Given the description of an element on the screen output the (x, y) to click on. 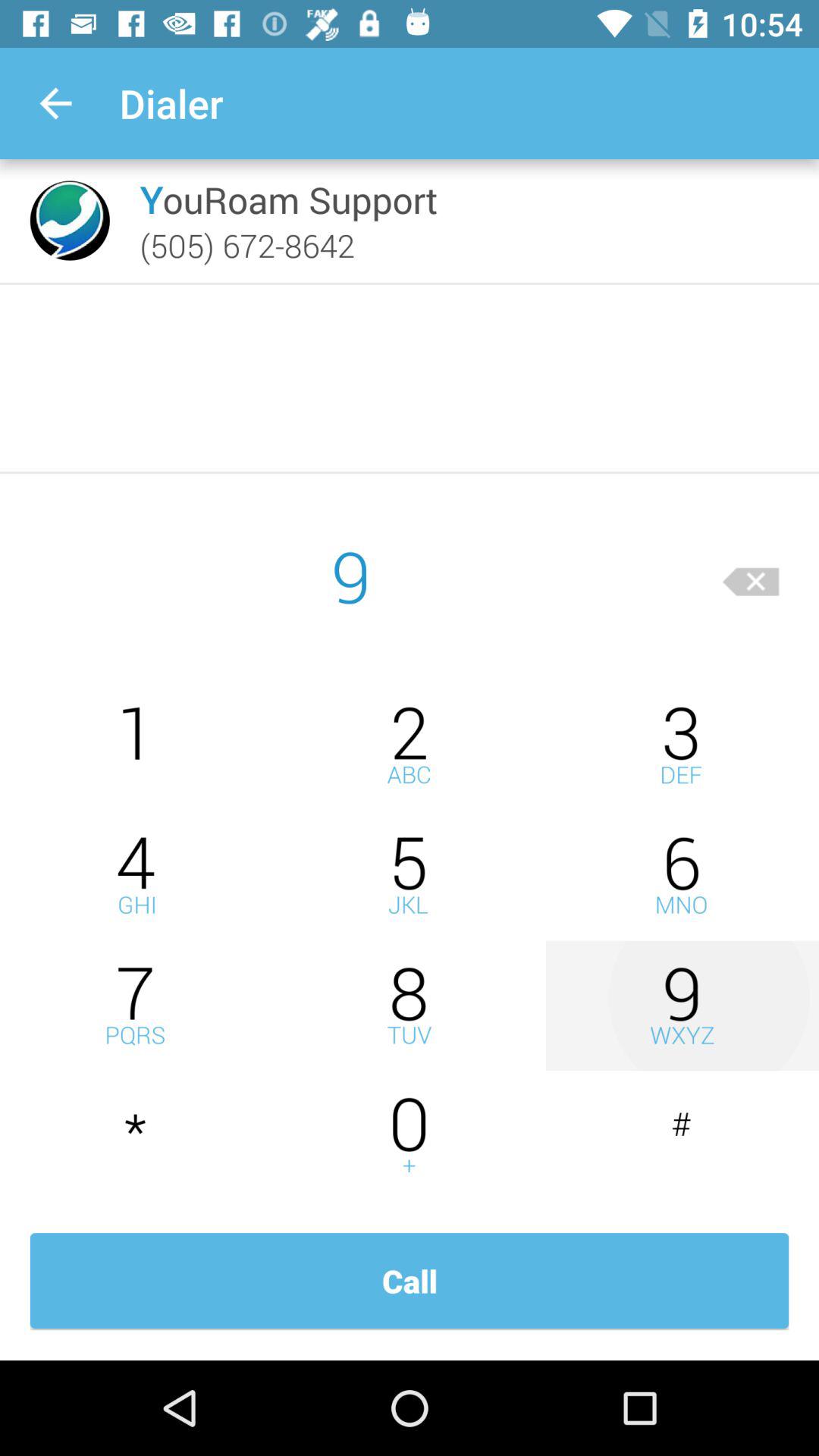
this is phone dialing number (409, 1005)
